Given the description of an element on the screen output the (x, y) to click on. 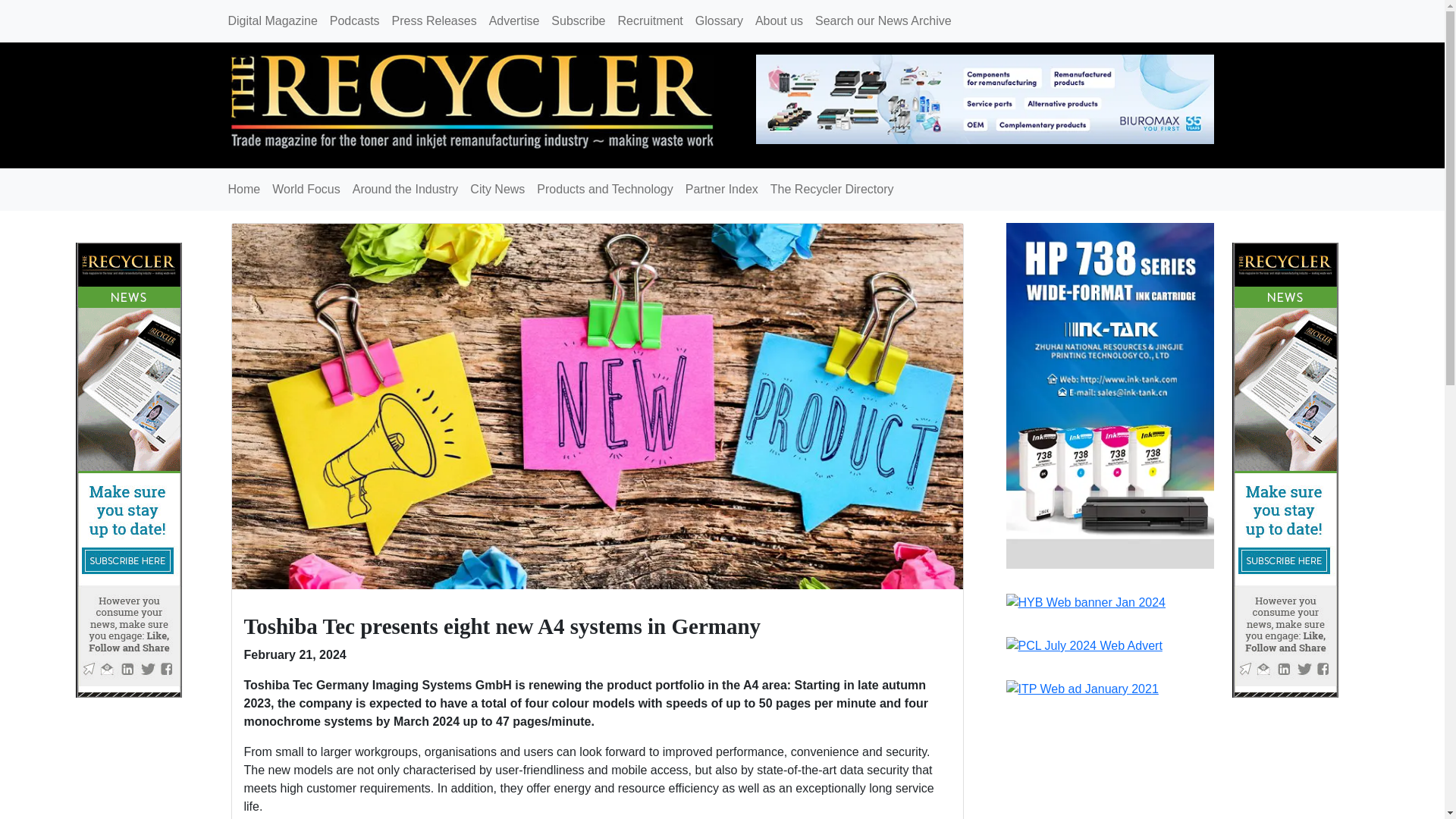
Search our News Archive (883, 20)
Around the Industry (405, 189)
Toshiba Tec presents eight new A4 systems in Germany (502, 626)
World Focus (306, 189)
City News (497, 189)
Subscribe (577, 20)
Advertise (514, 20)
Toshiba Tec presents eight new A4 systems in Germany (502, 626)
Recruitment (649, 20)
Toshiba Tec presents eight new A4 systems in Germany (596, 404)
Glossary (718, 20)
About us (779, 20)
Podcasts (354, 20)
Partner Index (721, 189)
Digital Magazine (272, 20)
